Given the description of an element on the screen output the (x, y) to click on. 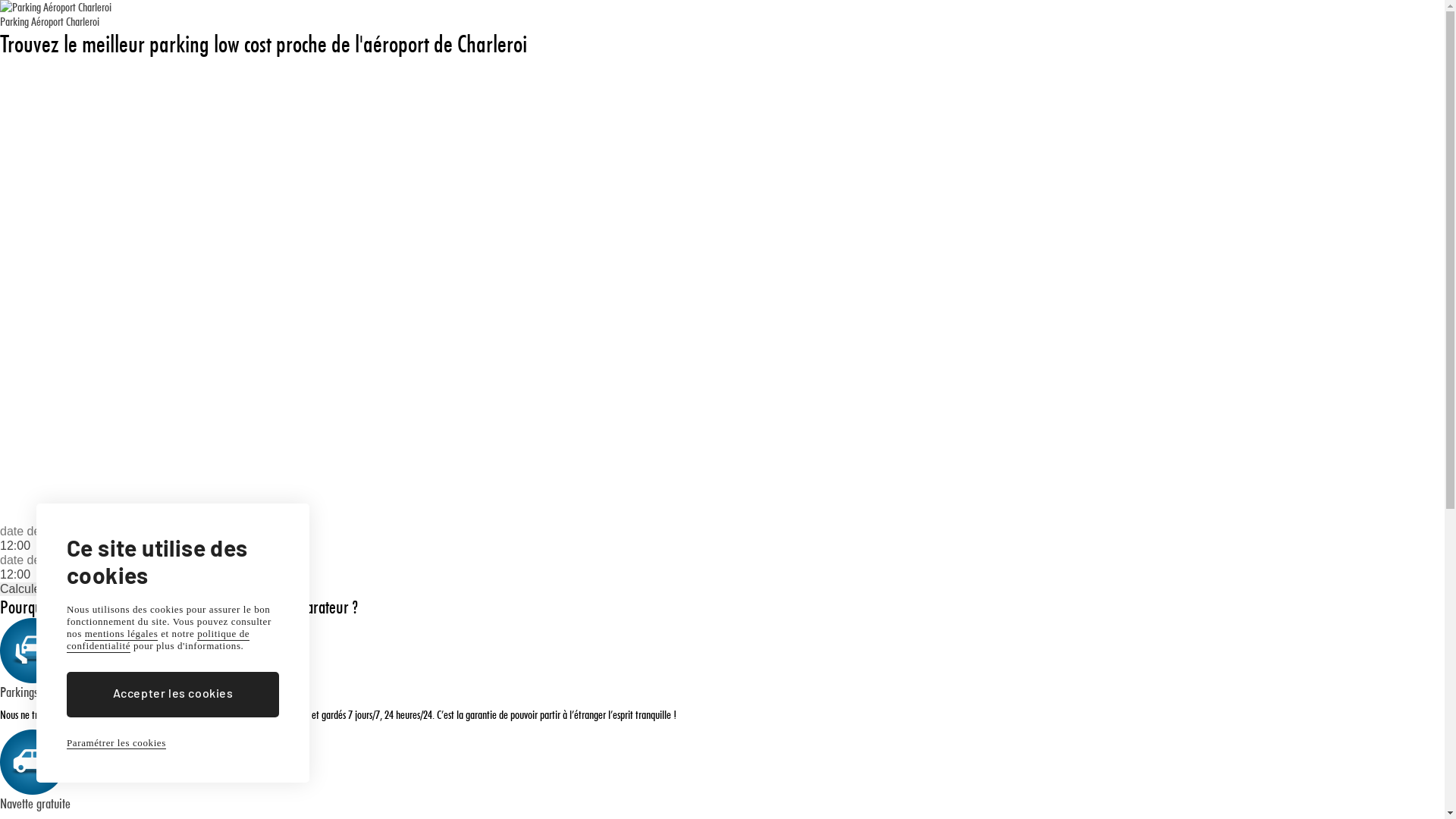
Calculer le prix Element type: text (40, 589)
Navette gratuite Element type: text (35, 802)
